Given the description of an element on the screen output the (x, y) to click on. 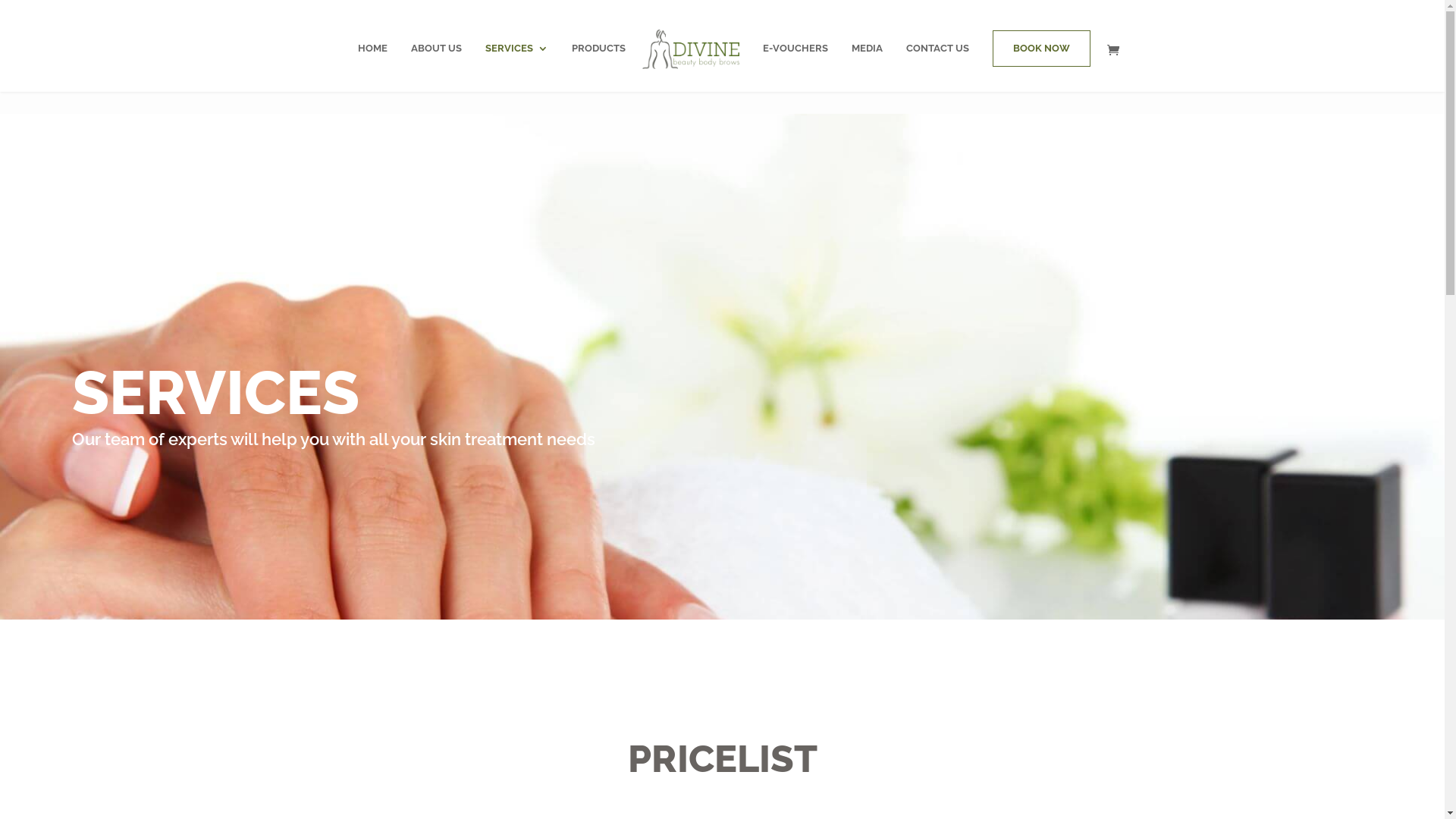
E-VOUCHERS Element type: text (795, 59)
PRODUCTS Element type: text (598, 59)
BOOK NOW Element type: text (1041, 48)
CONTACT US Element type: text (937, 59)
HOME Element type: text (372, 59)
ABOUT US Element type: text (436, 59)
MEDIA Element type: text (866, 59)
SERVICES Element type: text (516, 59)
